Given the description of an element on the screen output the (x, y) to click on. 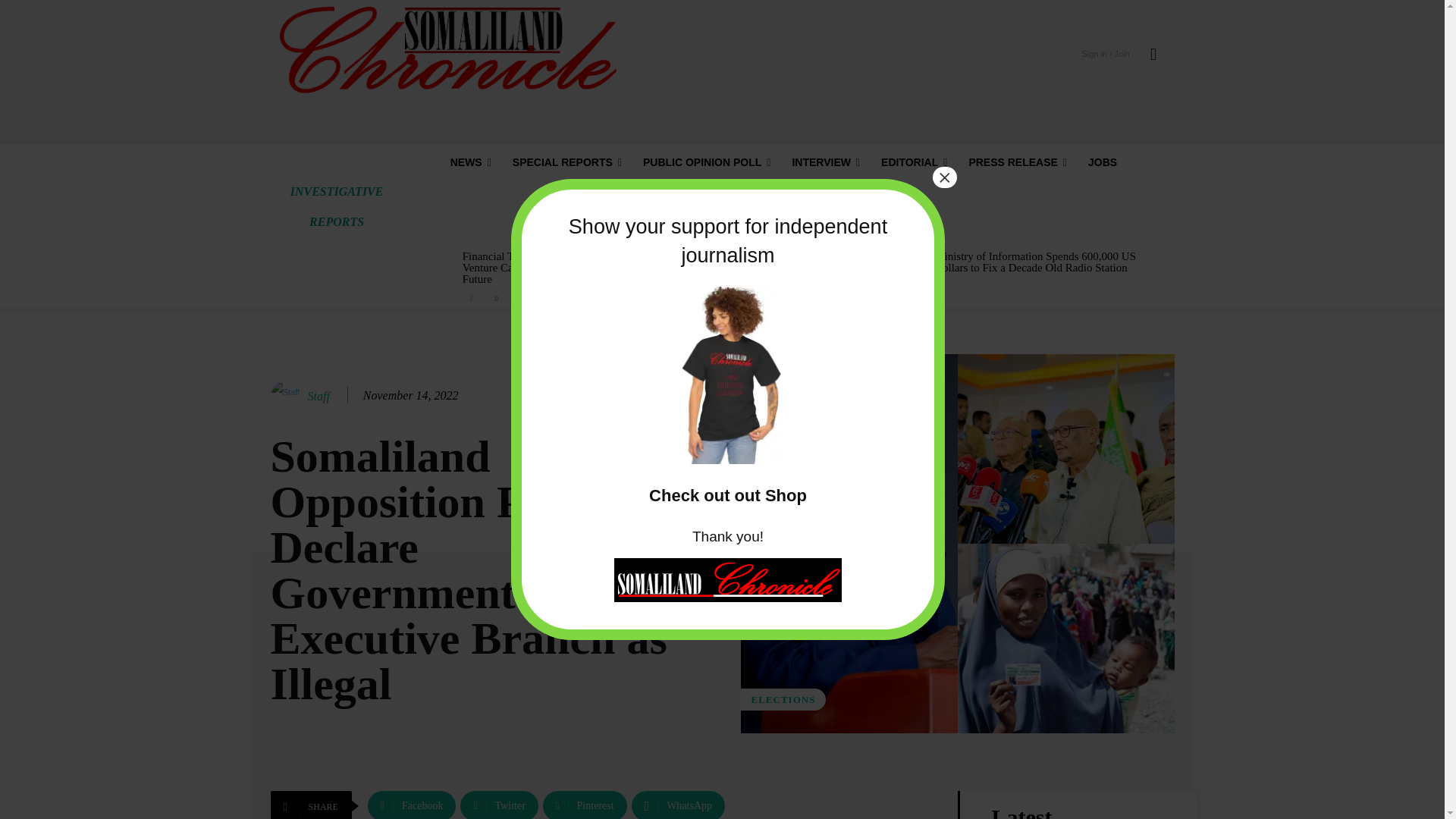
NEWS (470, 162)
